Given the description of an element on the screen output the (x, y) to click on. 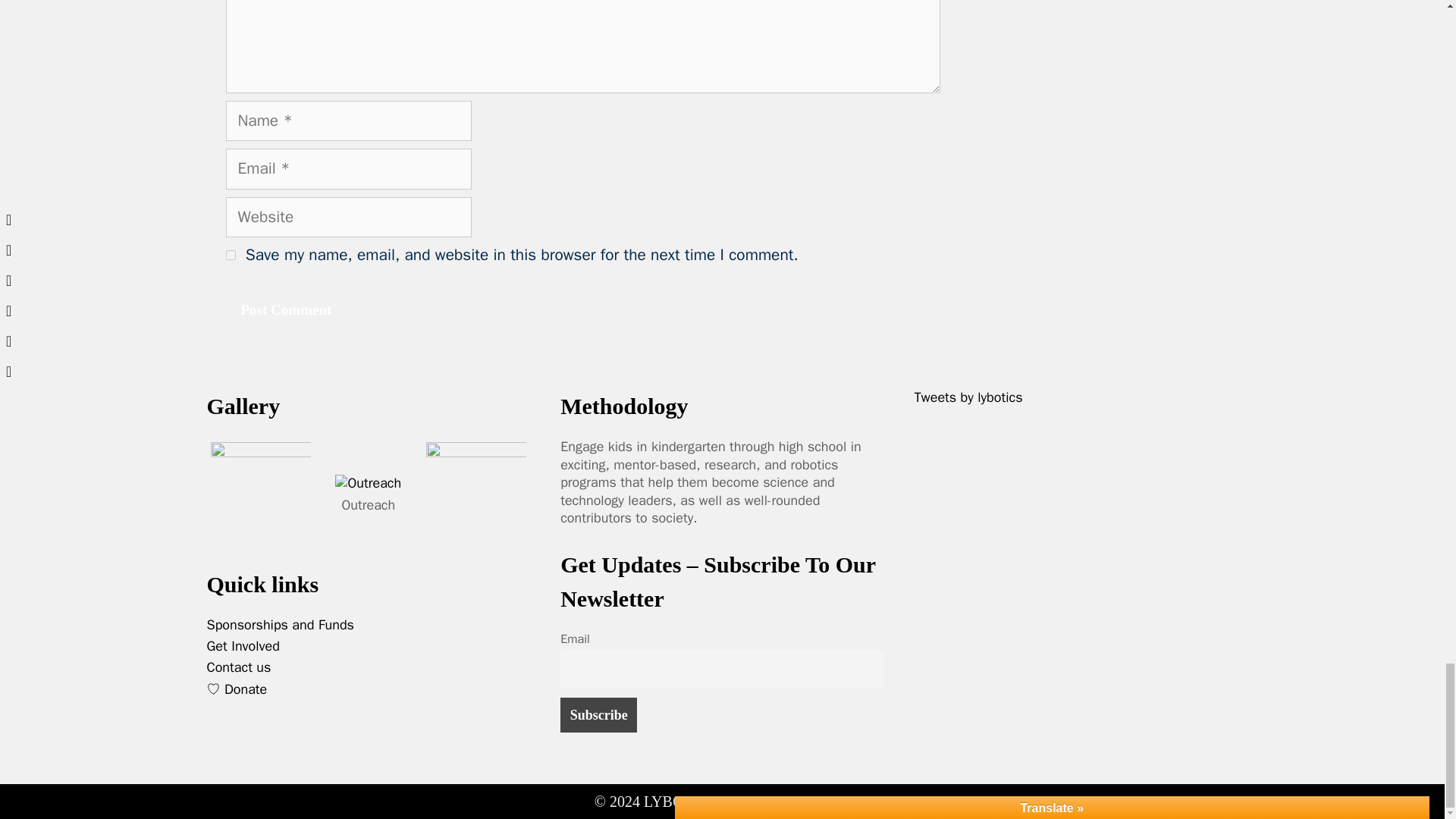
Post Comment (286, 310)
Subscribe (598, 714)
yes (230, 255)
